Given the description of an element on the screen output the (x, y) to click on. 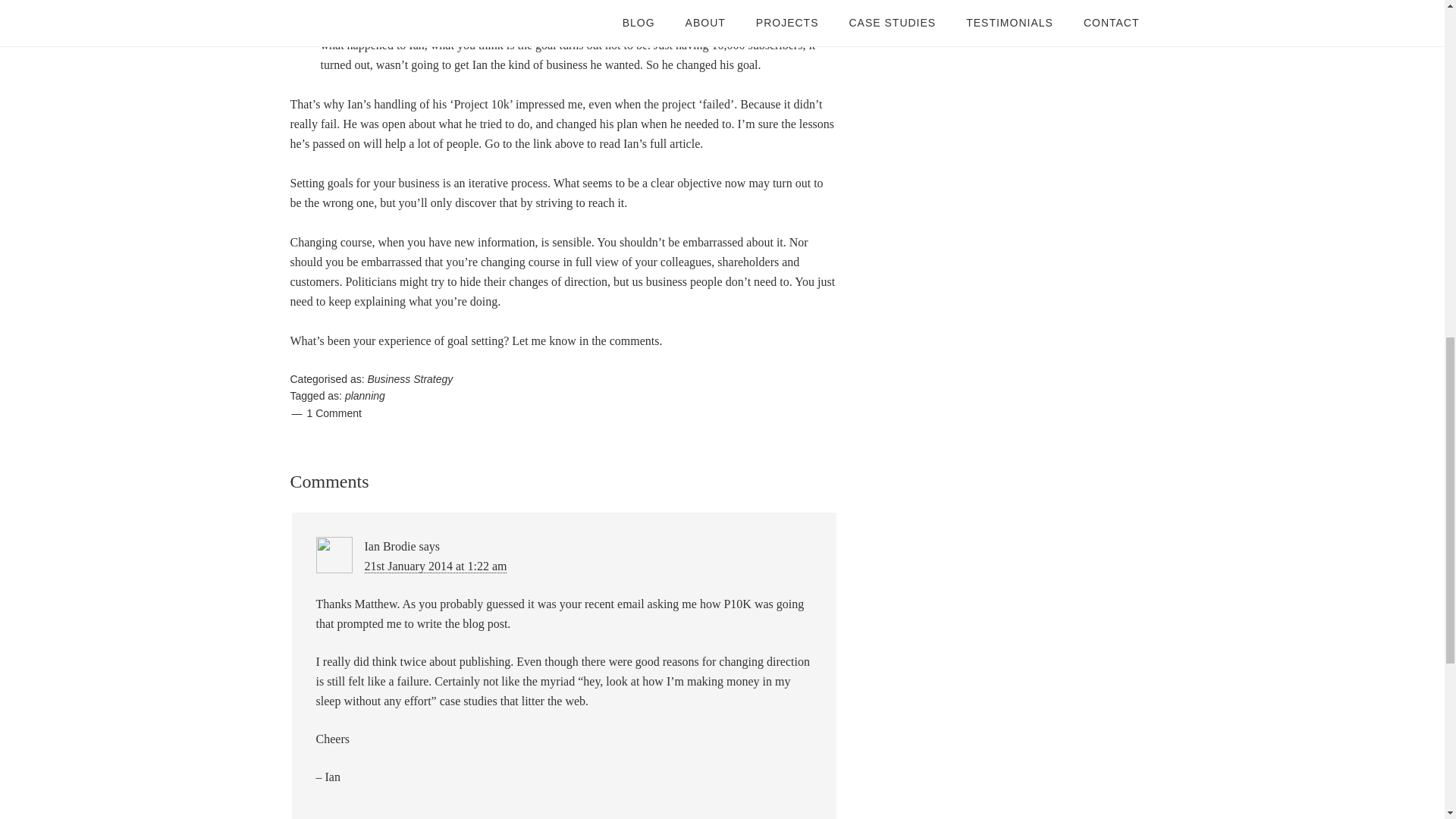
Business Strategy (409, 378)
21st January 2014 at 1:22 am (435, 566)
1 Comment (333, 413)
planning (365, 395)
